Given the description of an element on the screen output the (x, y) to click on. 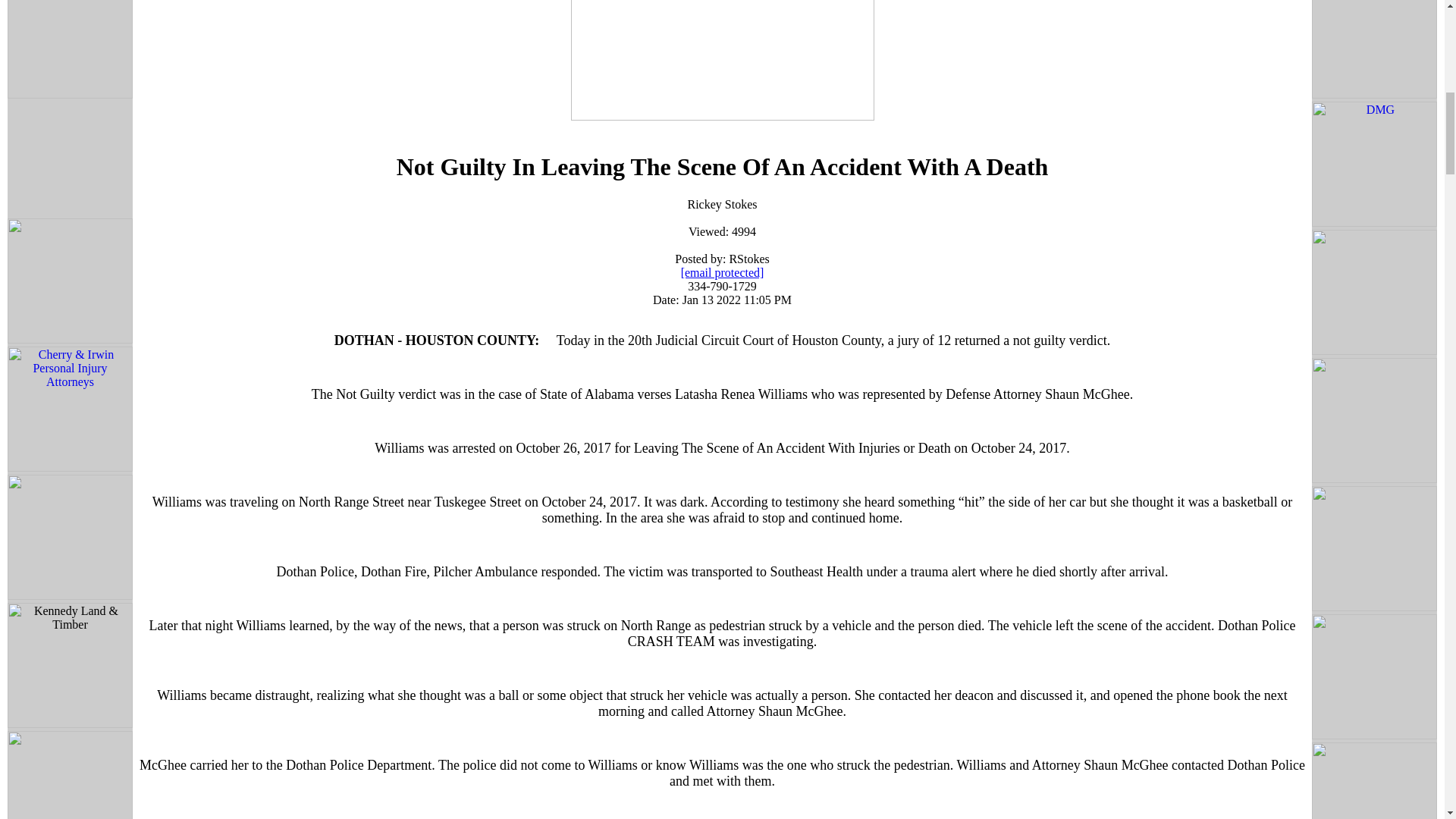
Rim Shops (69, 159)
Cannabis (69, 50)
